Given the description of an element on the screen output the (x, y) to click on. 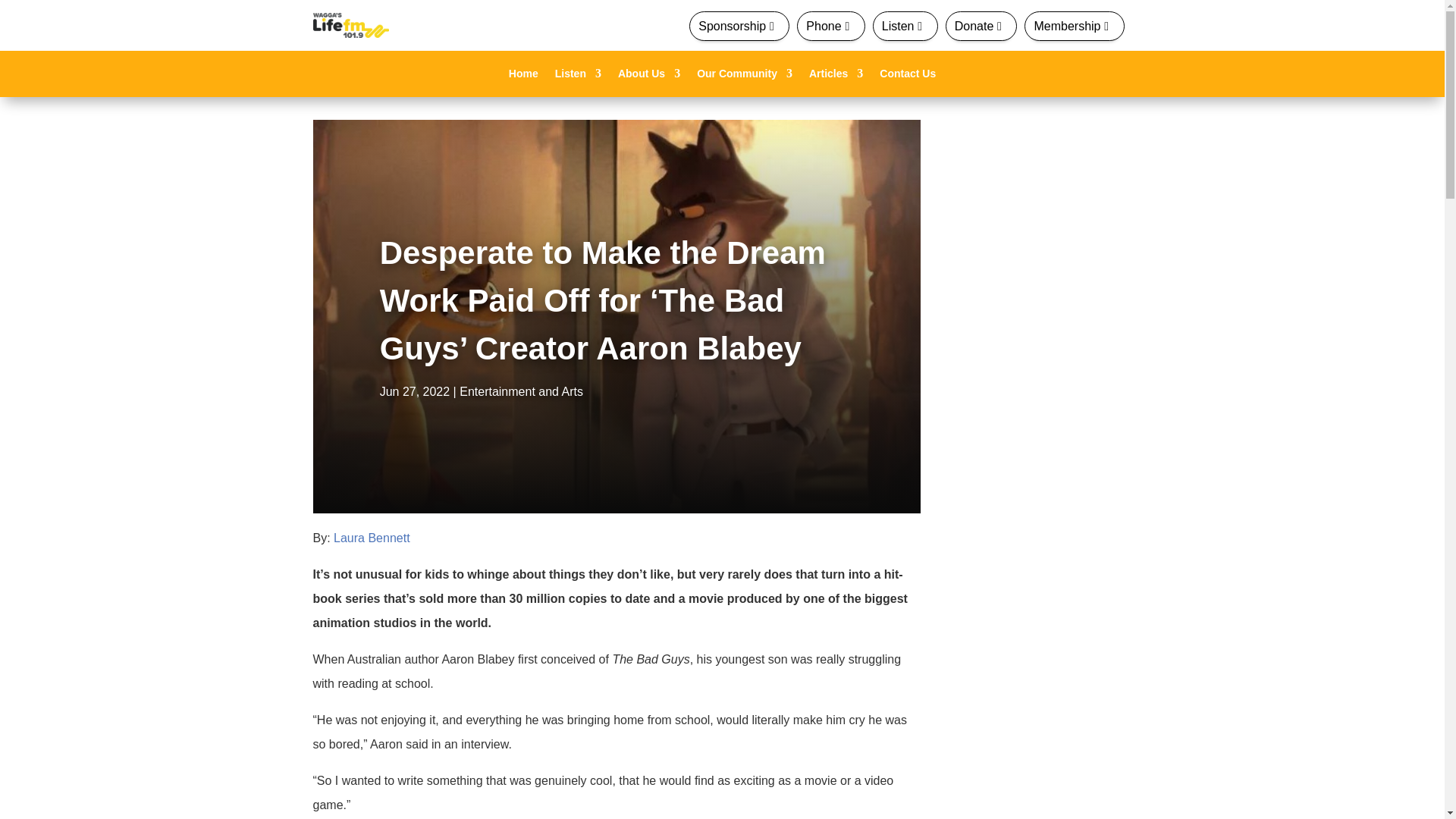
About Us (648, 76)
Listen (904, 25)
Sponsorship (738, 25)
Waggas-life-fm-logo (350, 25)
Listen (577, 76)
Contact Us (907, 76)
Membership (1074, 25)
Articles (836, 76)
Phone (830, 25)
Our Community (744, 76)
